Given the description of an element on the screen output the (x, y) to click on. 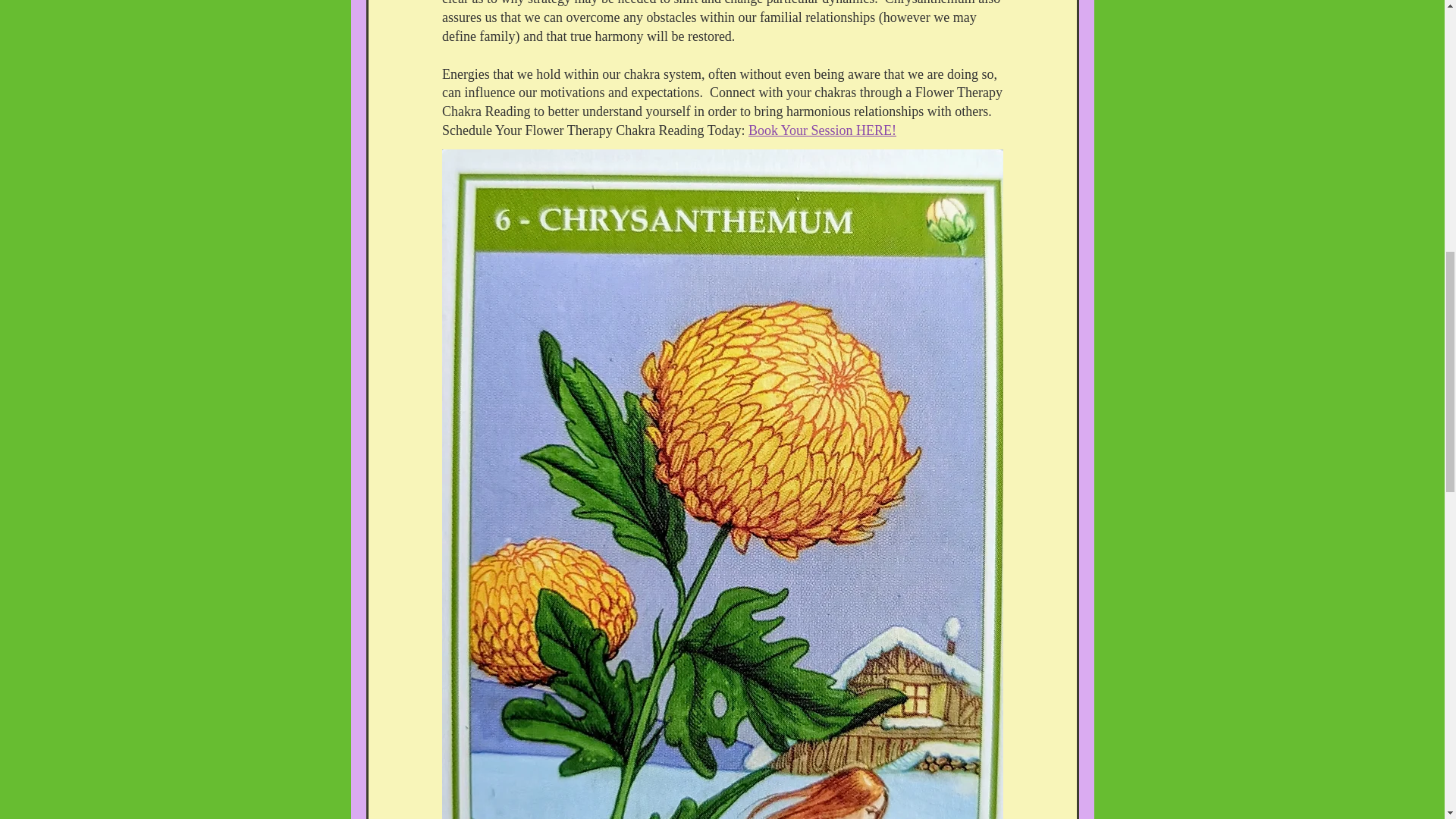
Book Your Session HERE! (822, 130)
